Given the description of an element on the screen output the (x, y) to click on. 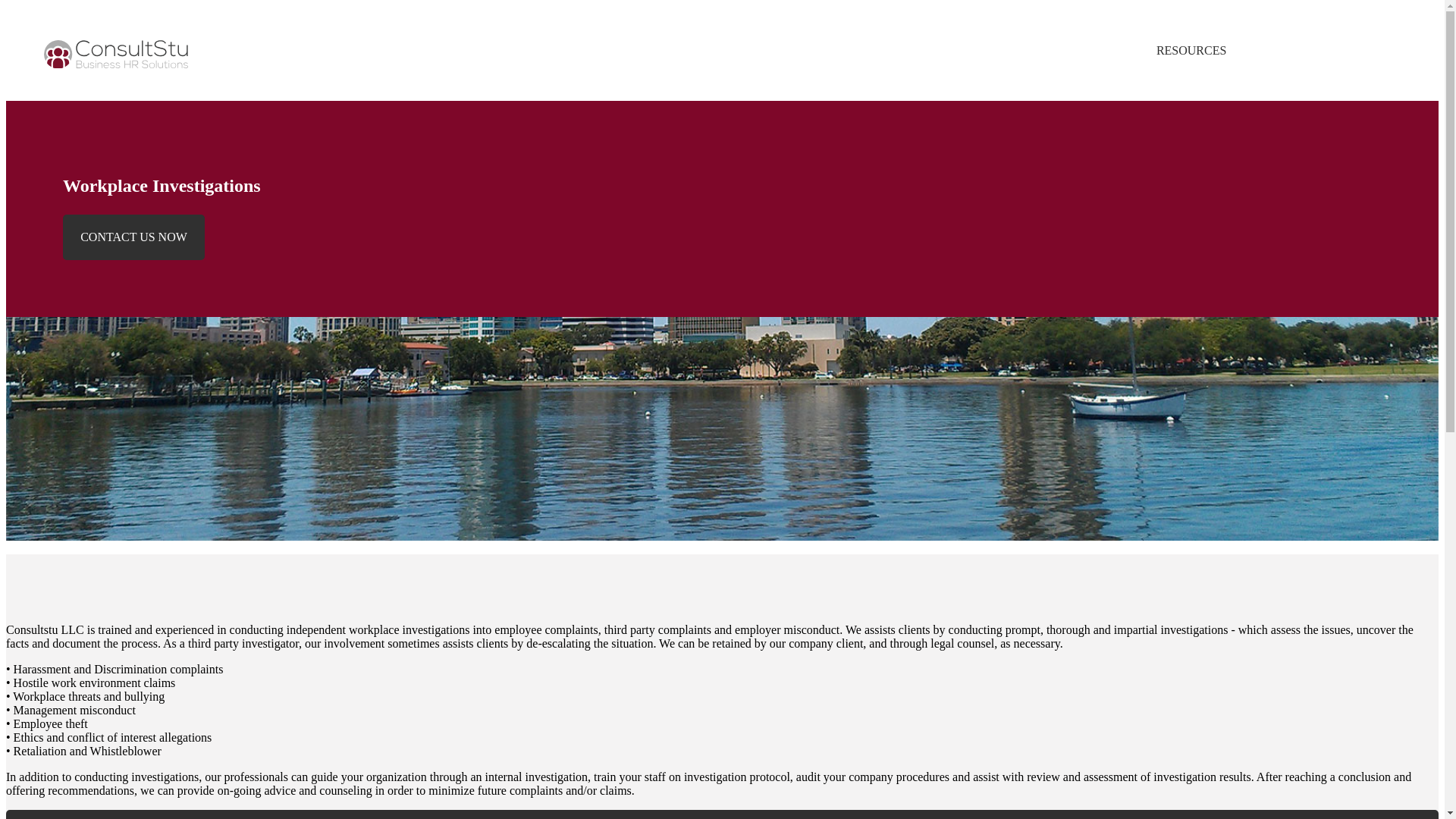
SERVICES (1106, 50)
ABOUT US (1025, 50)
JOBS BOARD (1284, 50)
CONTACT (1371, 50)
